Given the description of an element on the screen output the (x, y) to click on. 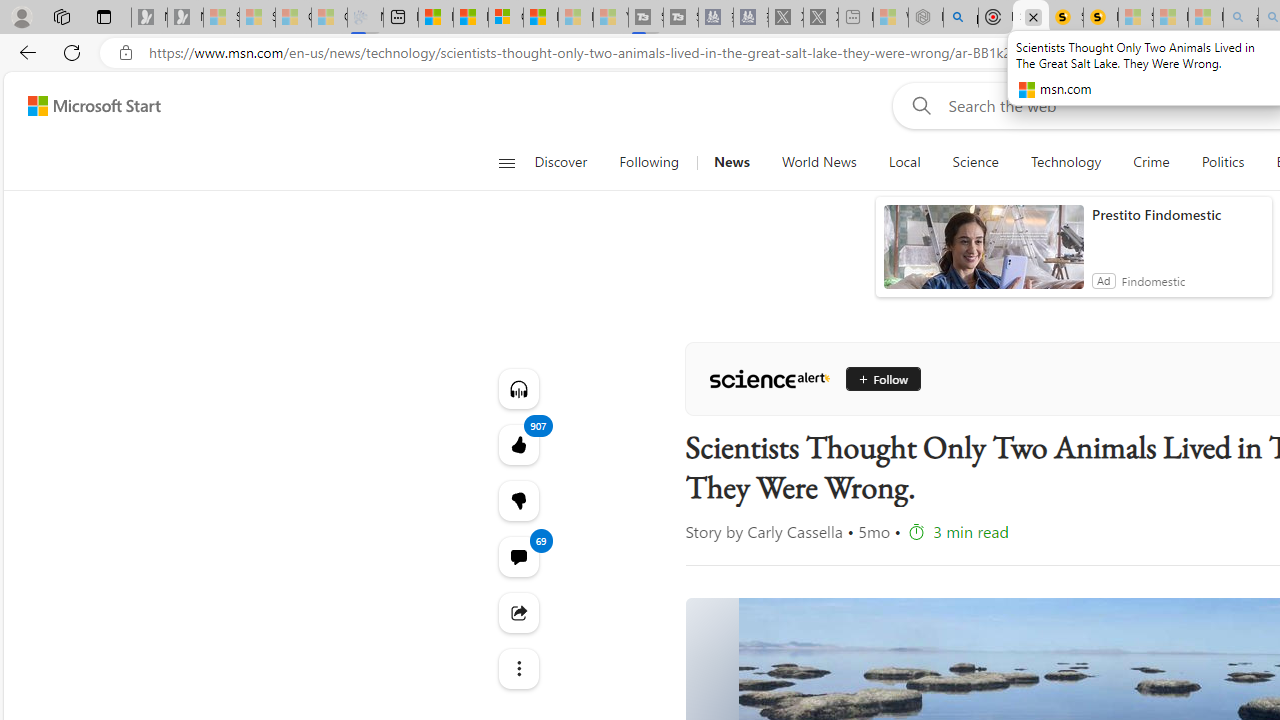
Class: button-glyph (505, 162)
Share this story (517, 612)
Open navigation menu (506, 162)
Listen to this article (517, 388)
Skip to footer (82, 105)
Crime (1150, 162)
amazon - Search - Sleeping (1240, 17)
ScienceAlert (769, 378)
Discover (560, 162)
Streaming Coverage | T3 - Sleeping (645, 17)
Web search (917, 105)
More like this907Fewer like thisView comments (517, 500)
